Given the description of an element on the screen output the (x, y) to click on. 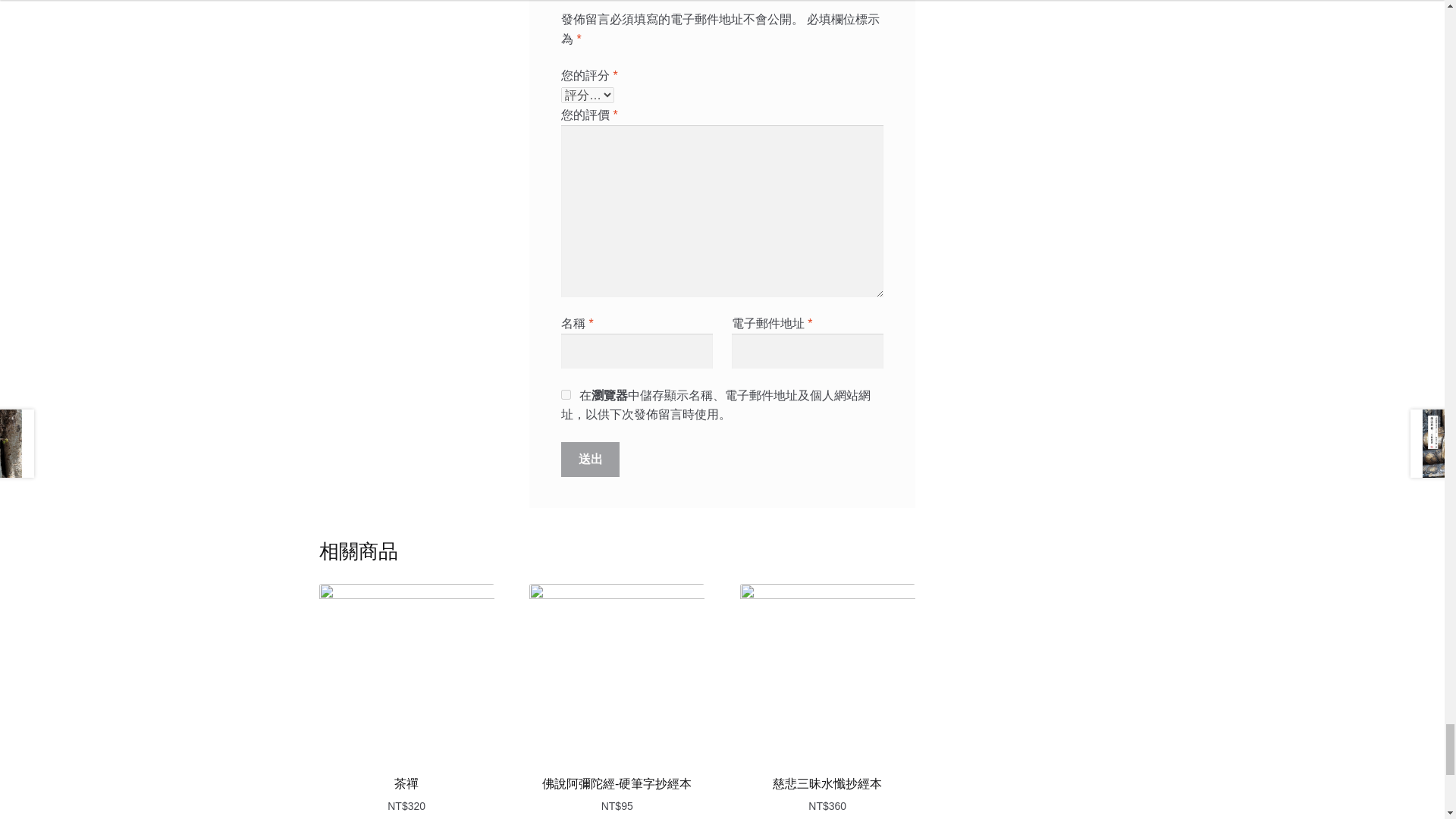
yes (565, 394)
